Given the description of an element on the screen output the (x, y) to click on. 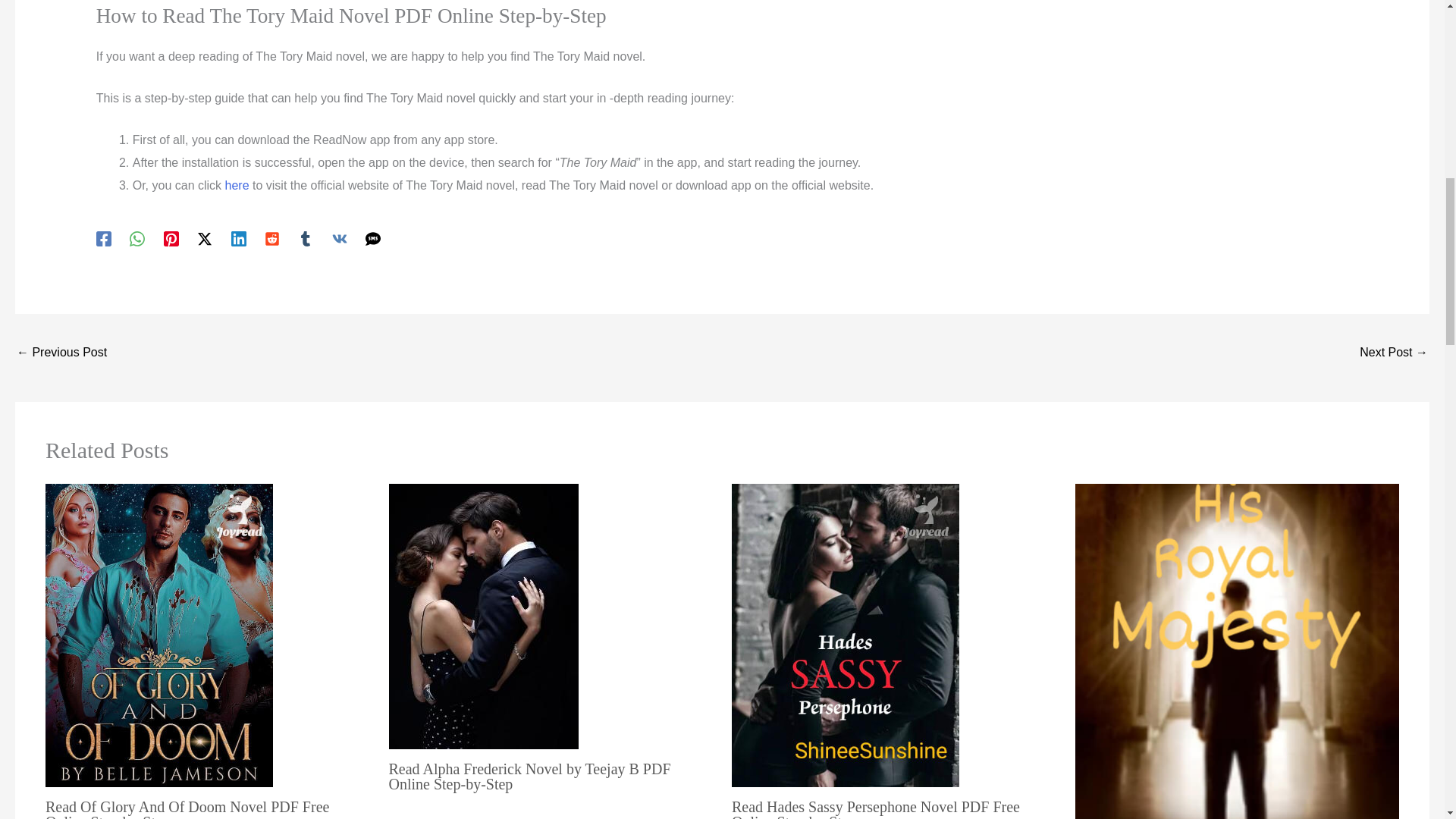
here (236, 185)
Read Of Glory And Of Doom Novel PDF Free Online Step-by-Step (187, 808)
